Given the description of an element on the screen output the (x, y) to click on. 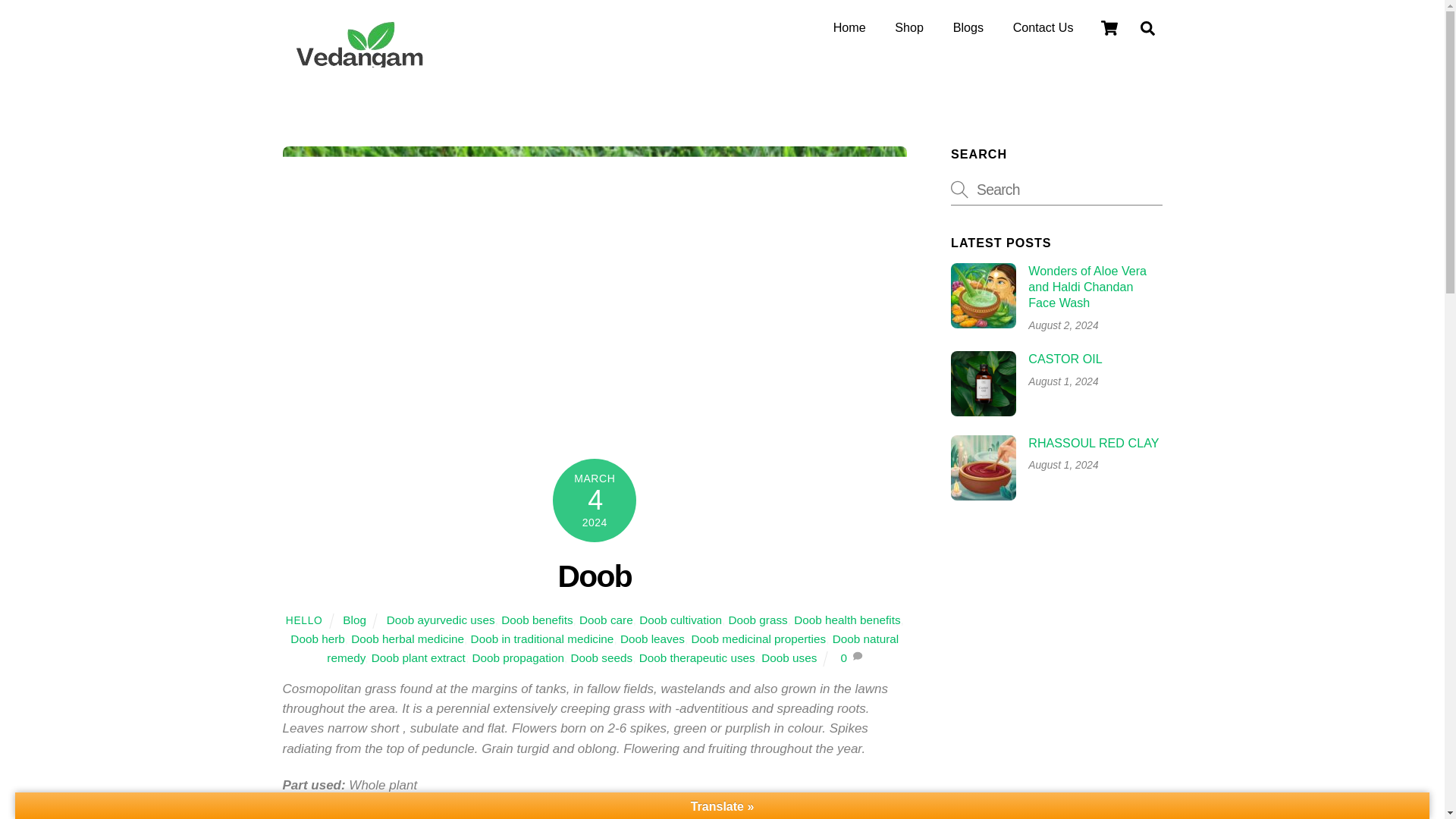
Cart (1108, 28)
Blogs (968, 27)
Doob herb (316, 638)
Doob in traditional medicine (542, 638)
Doob ayurvedic uses (441, 619)
Blog (354, 619)
Doob propagation (517, 657)
Search (1055, 189)
Doob seeds (600, 657)
